Given the description of an element on the screen output the (x, y) to click on. 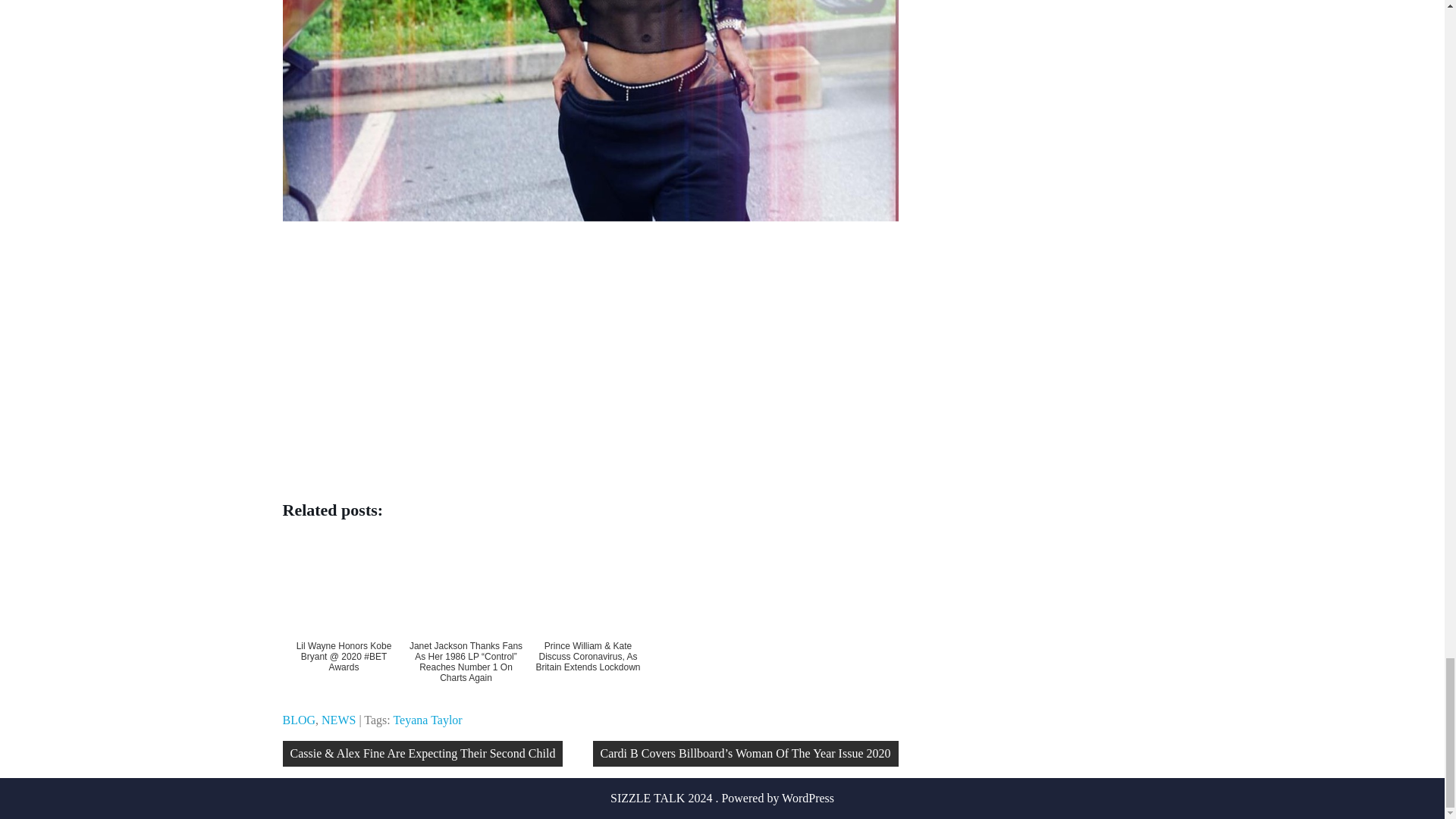
BLOG (298, 719)
